Given the description of an element on the screen output the (x, y) to click on. 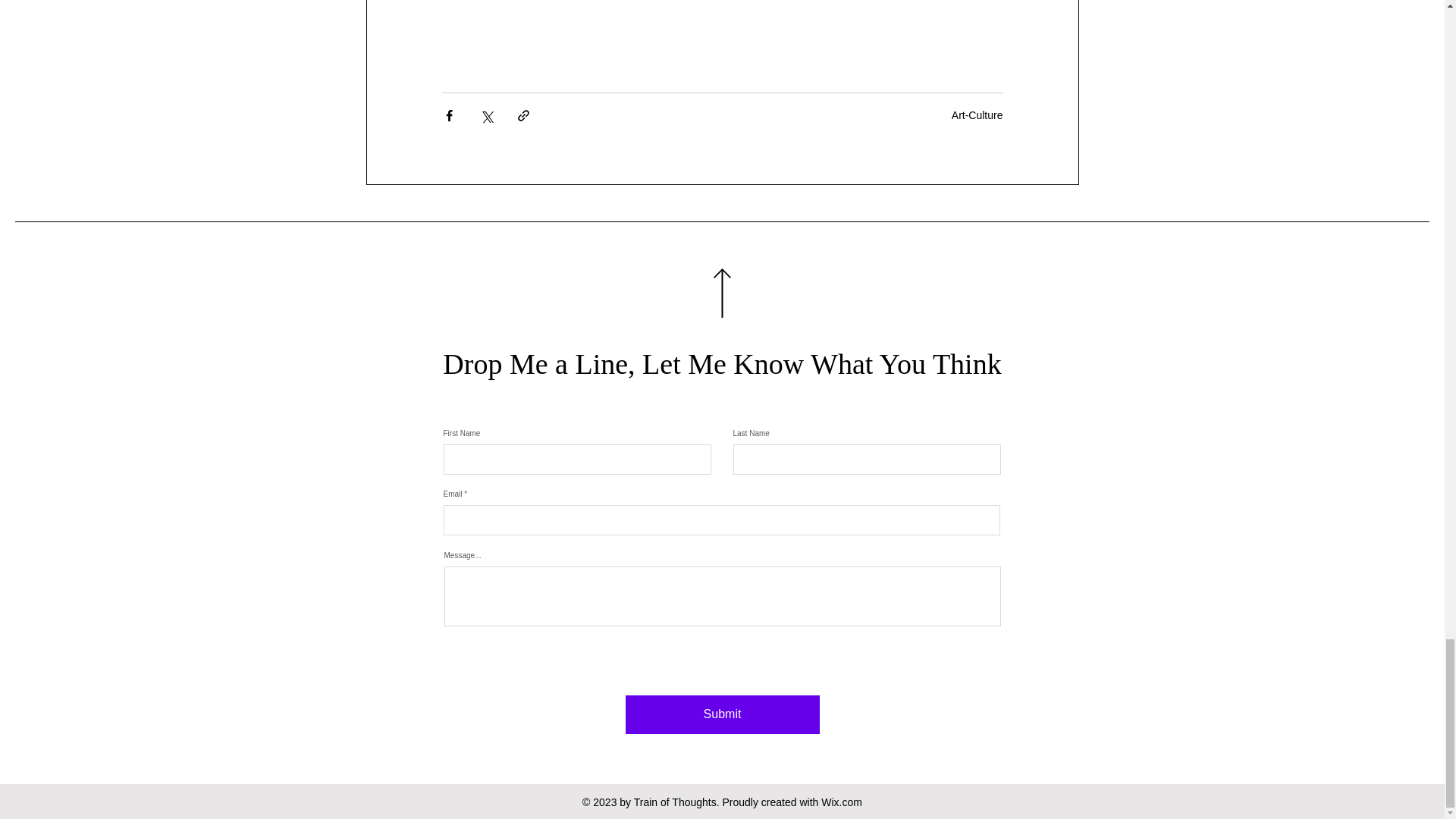
Submit (721, 714)
Art-Culture (977, 114)
Wix.com (841, 802)
